Given the description of an element on the screen output the (x, y) to click on. 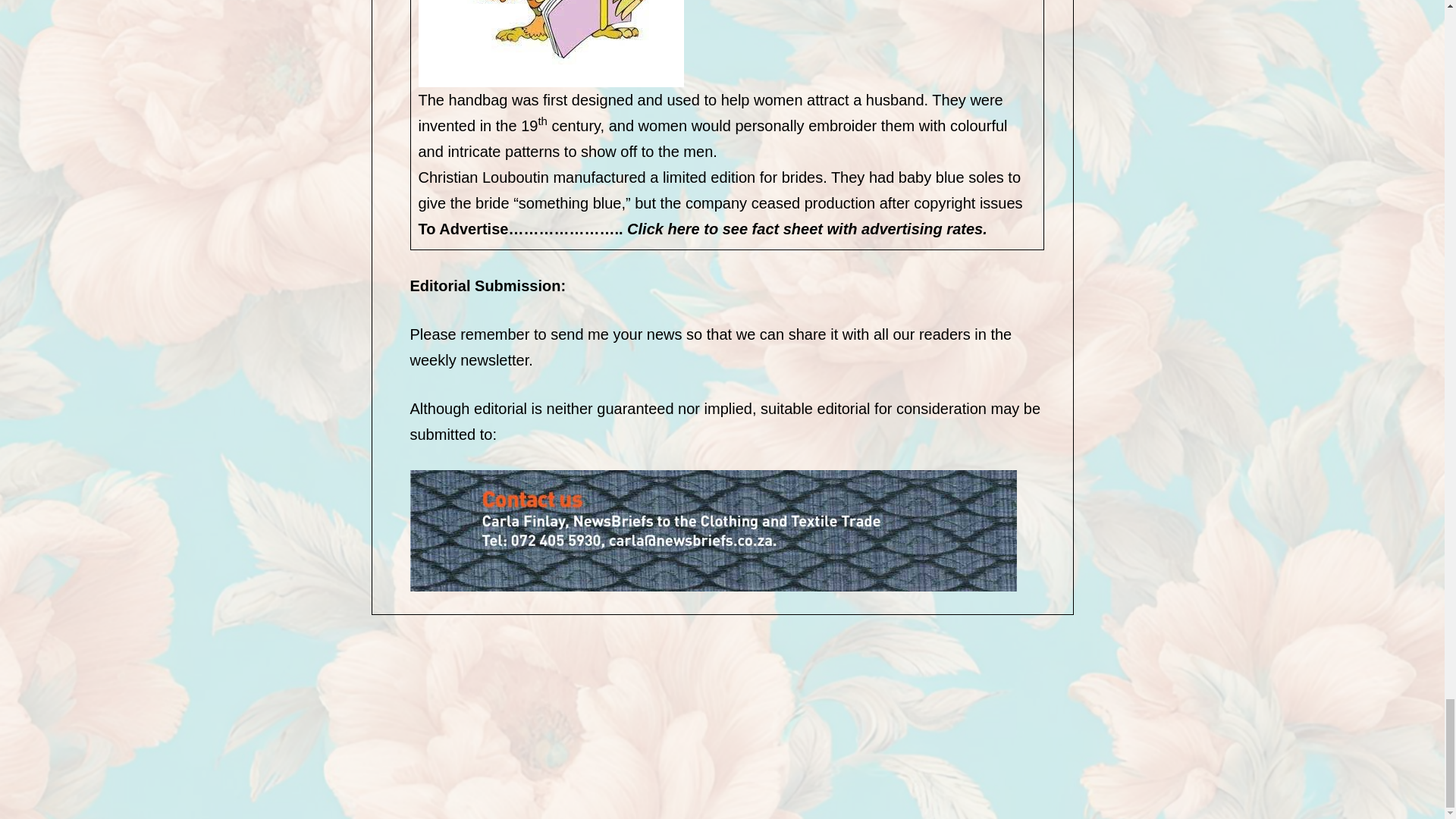
Click here to see fact sheet with advertising rates. (807, 228)
